Given the description of an element on the screen output the (x, y) to click on. 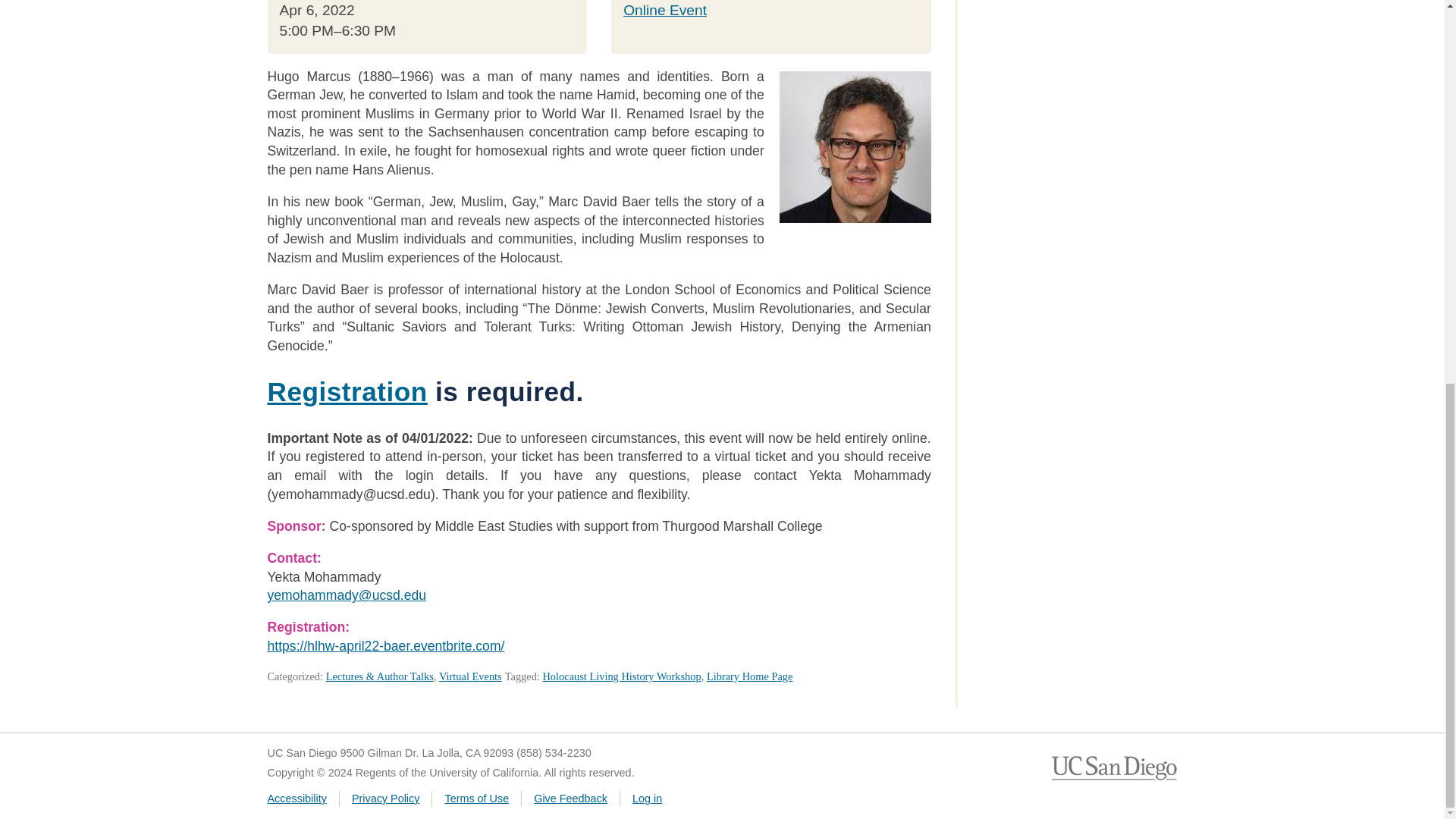
Registration (346, 391)
Library Home Page (749, 676)
Online Event (664, 10)
Give Feedback (570, 798)
Terms of Use (476, 798)
Log in (646, 798)
Accessibility (296, 798)
Privacy Policy (386, 798)
Virtual Events (470, 676)
Holocaust Living History Workshop (620, 676)
